Given the description of an element on the screen output the (x, y) to click on. 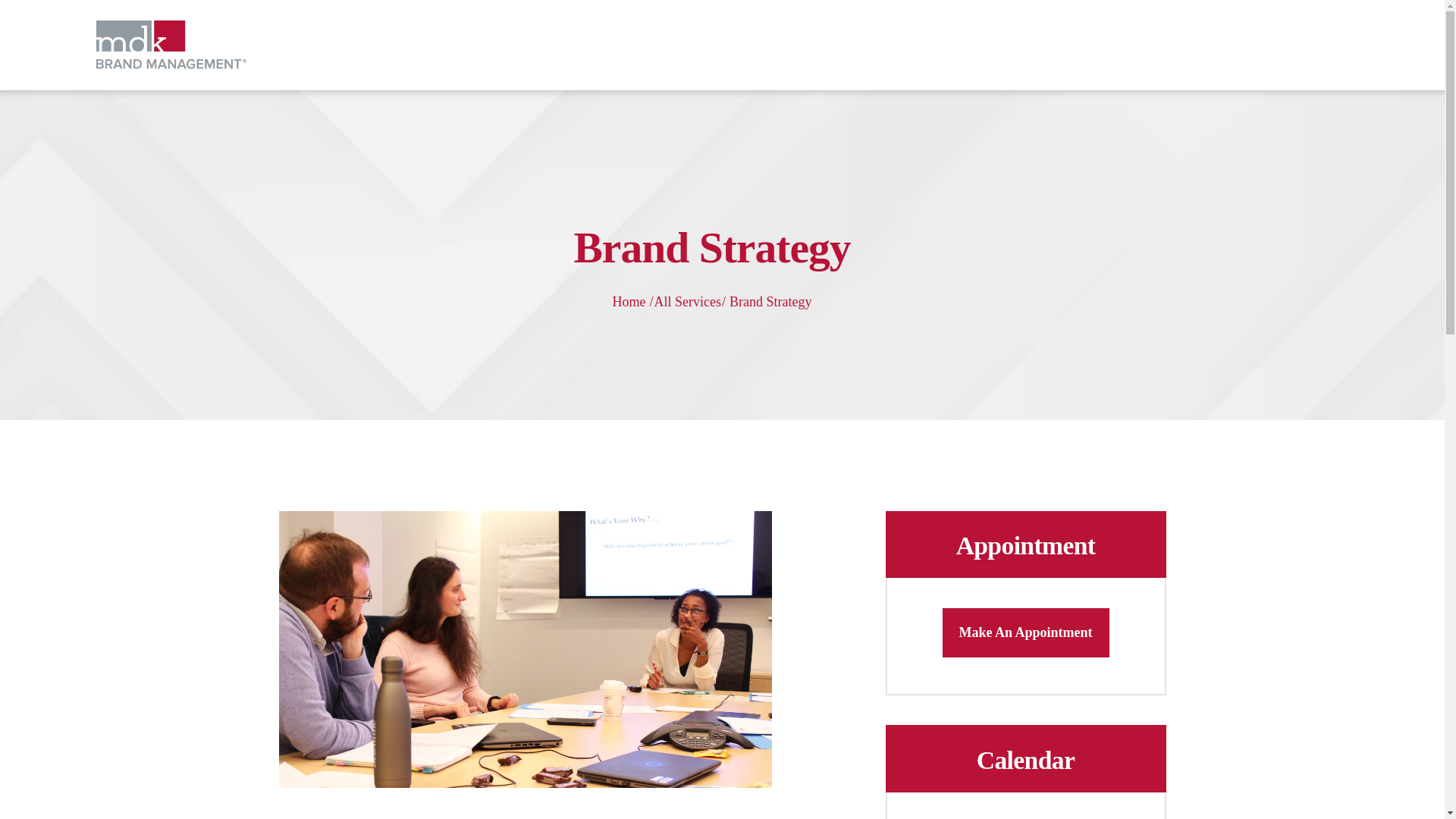
All Services (686, 301)
Make An Appointment (1025, 632)
Home (627, 301)
